Given the description of an element on the screen output the (x, y) to click on. 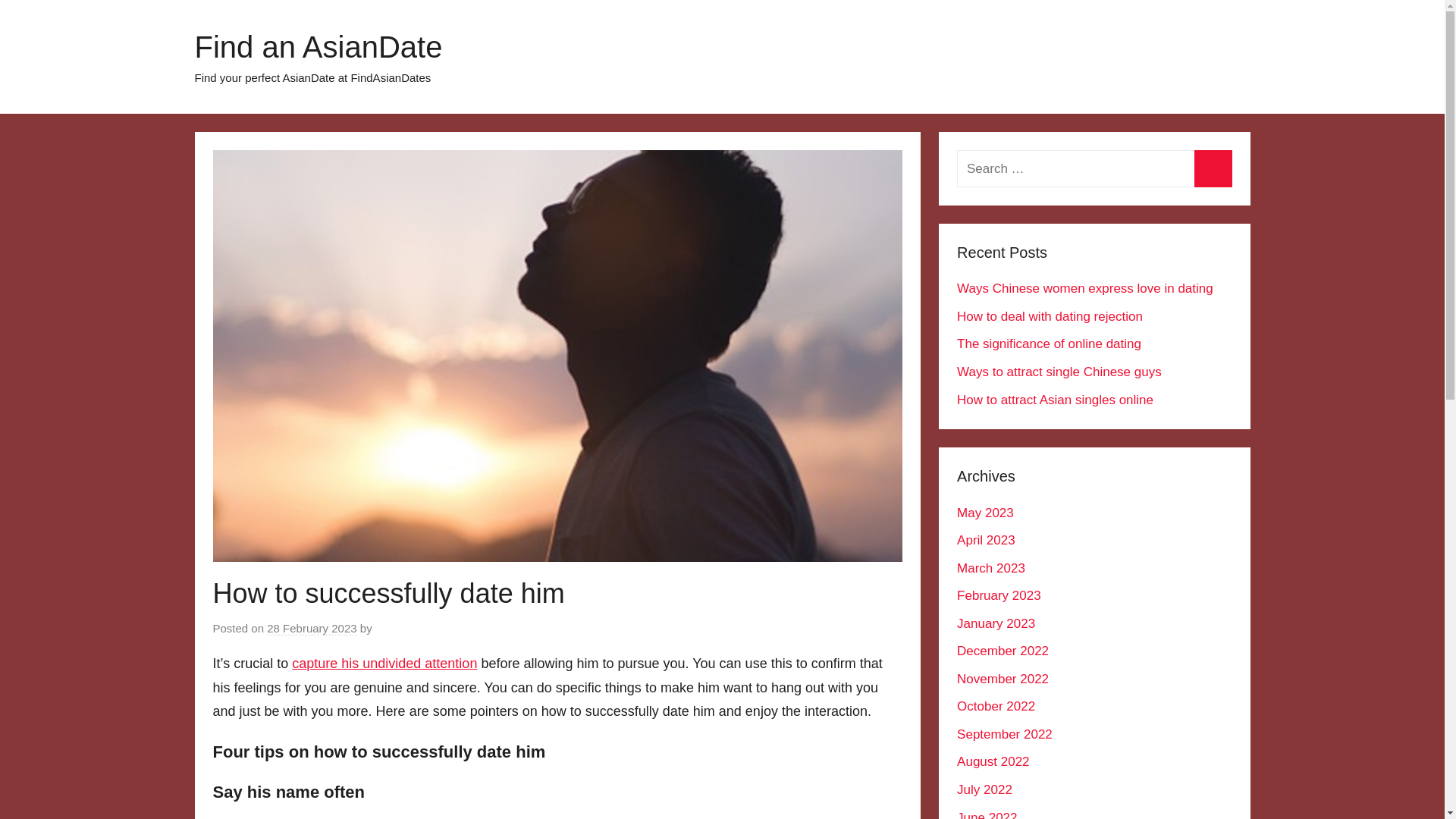
September 2022 (1004, 734)
How to attract Asian singles online (1054, 400)
February 2023 (998, 595)
January 2023 (995, 623)
November 2022 (1002, 678)
May 2023 (984, 513)
Search (1212, 168)
December 2022 (1002, 650)
July 2022 (983, 789)
August 2022 (992, 761)
Find an AsianDate (317, 46)
October 2022 (995, 706)
Ways to attract single Chinese guys (1058, 371)
28 February 2023 (311, 628)
Search for: (1093, 168)
